Given the description of an element on the screen output the (x, y) to click on. 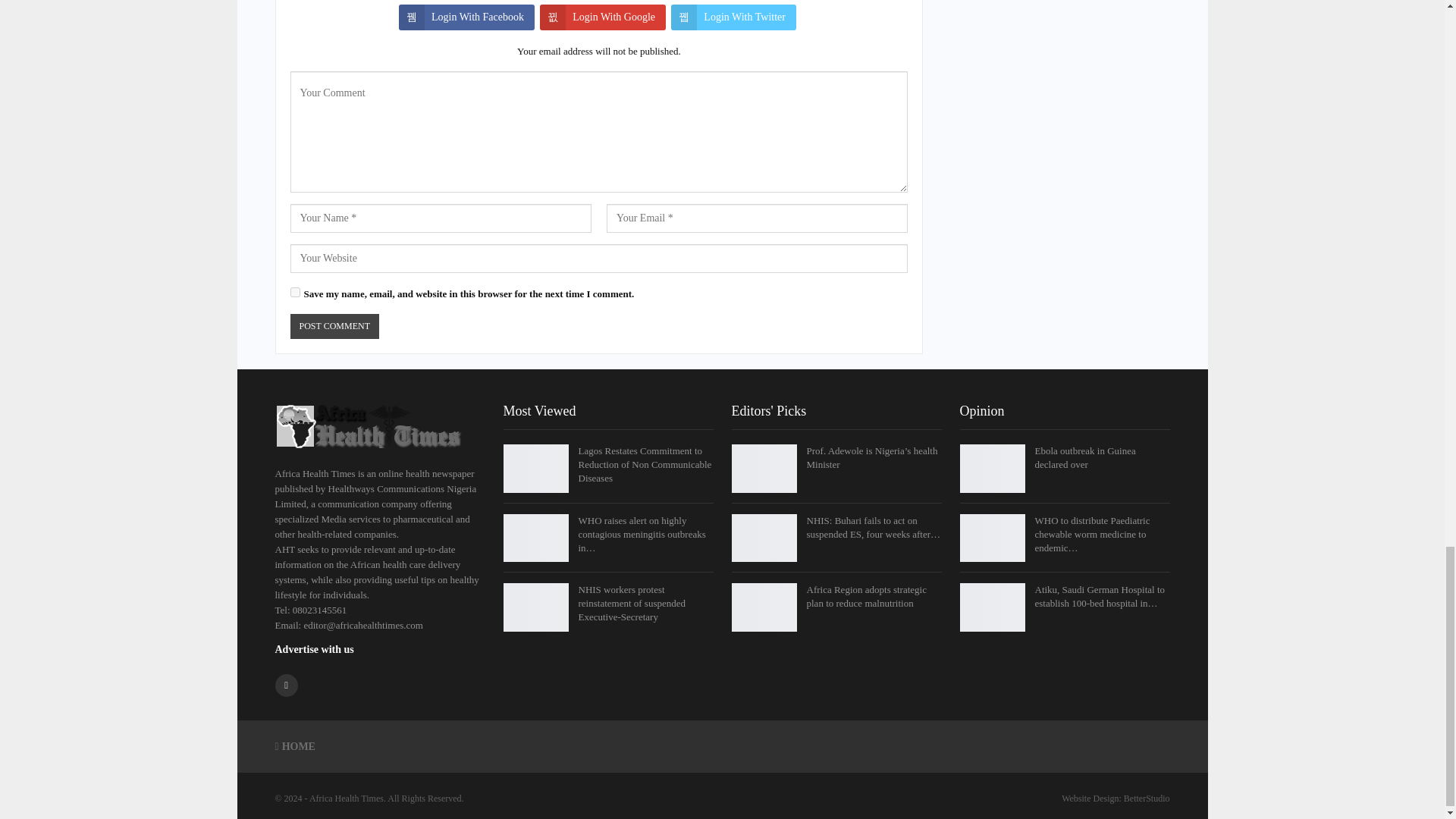
yes (294, 292)
Post Comment (333, 326)
